Given the description of an element on the screen output the (x, y) to click on. 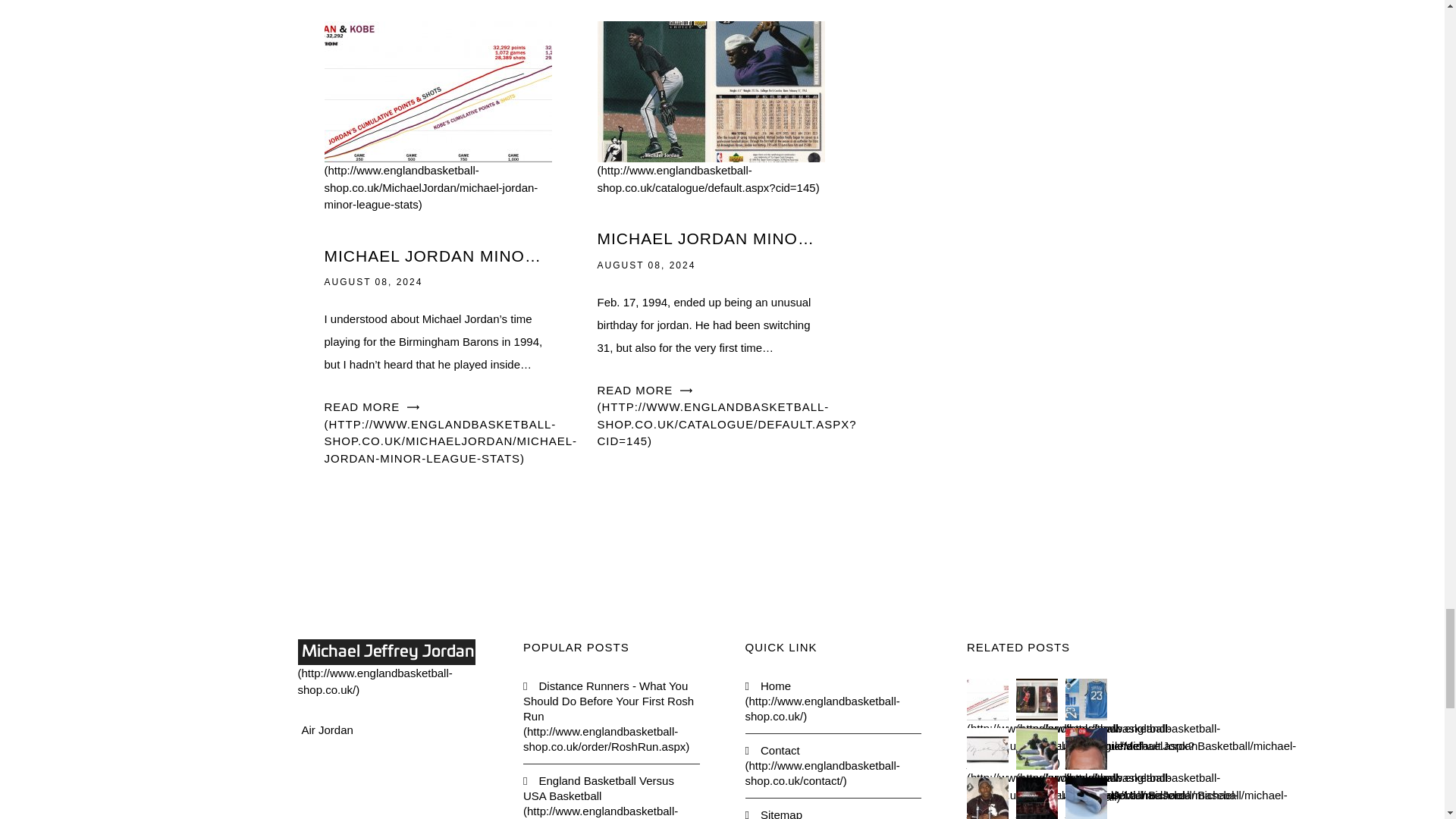
MICHAEL JORDAN MINOR LEAGUE STATS (437, 256)
READ MORE (726, 415)
Michael Jordan minor league baseball card (710, 139)
READ MORE (451, 432)
MICHAEL JORDAN MINOR LEAGUE BASEBALL CARD (710, 238)
Michael Jordan minor league stats (437, 147)
